Given the description of an element on the screen output the (x, y) to click on. 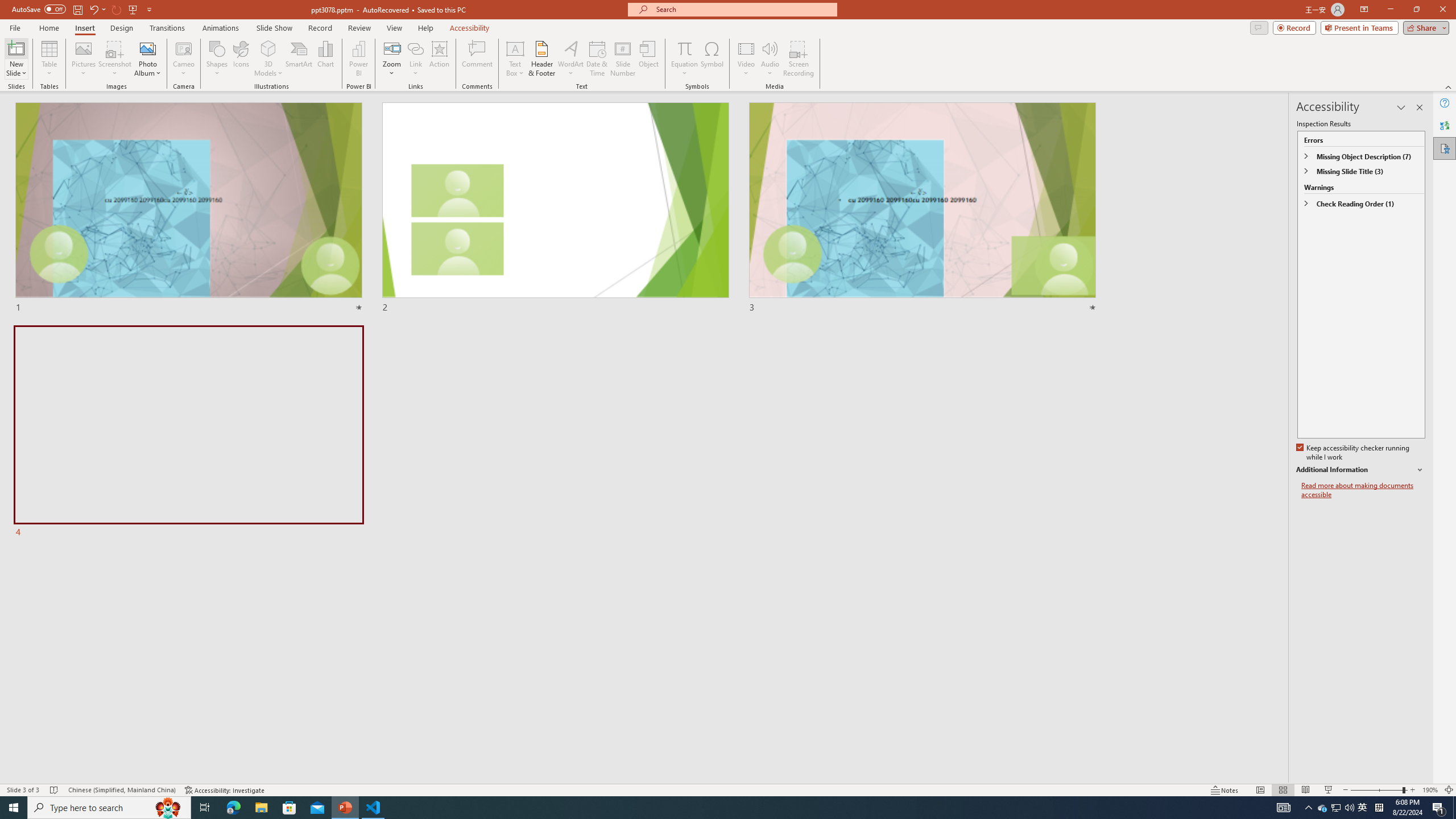
Object... (649, 58)
Header & Footer... (541, 58)
Symbol... (711, 58)
Link (415, 48)
